Given the description of an element on the screen output the (x, y) to click on. 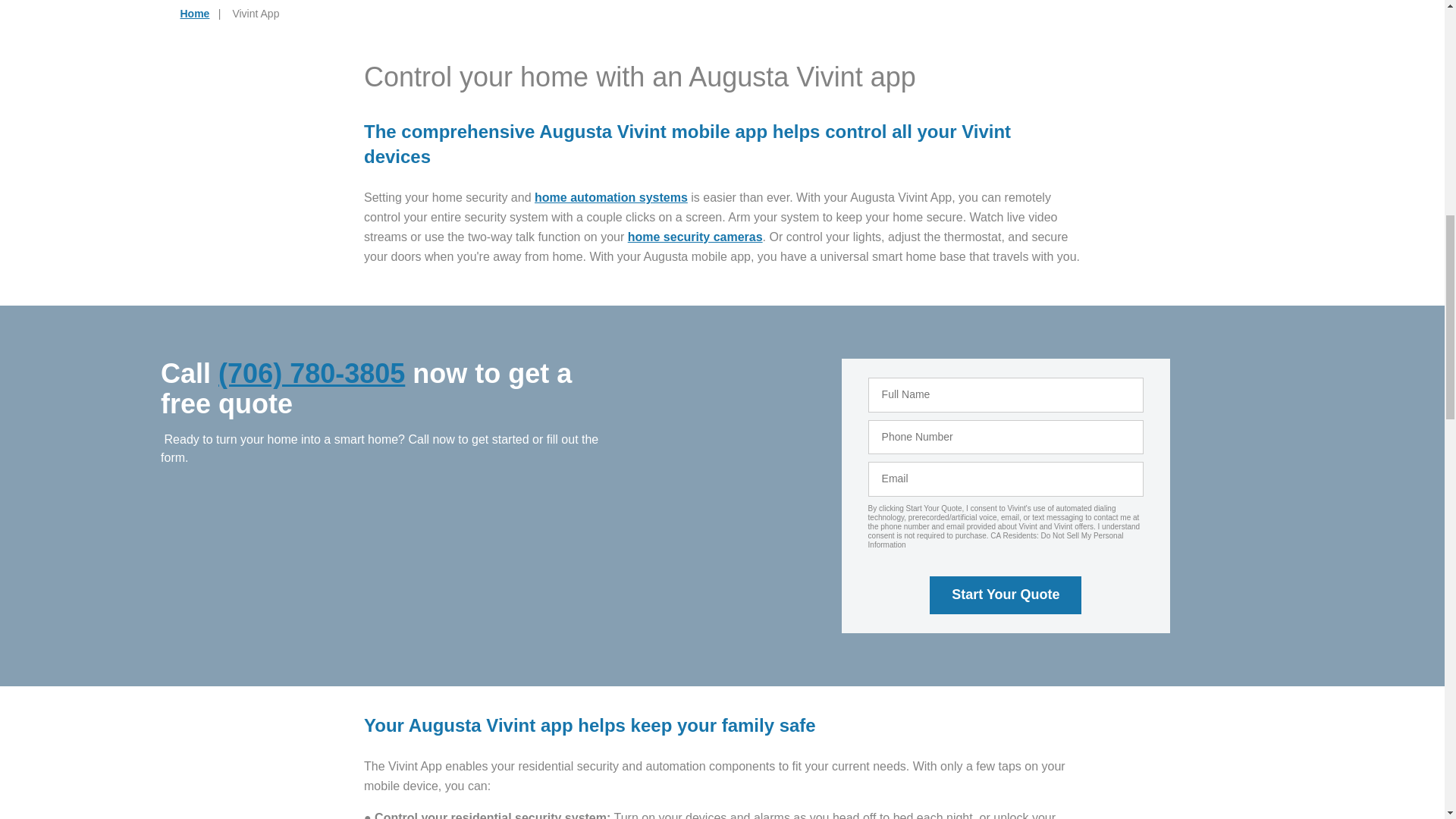
home security cameras (694, 236)
Start Your Quote (1005, 595)
Start Your Quote (1005, 595)
Home (194, 13)
home automation systems (610, 196)
